Given the description of an element on the screen output the (x, y) to click on. 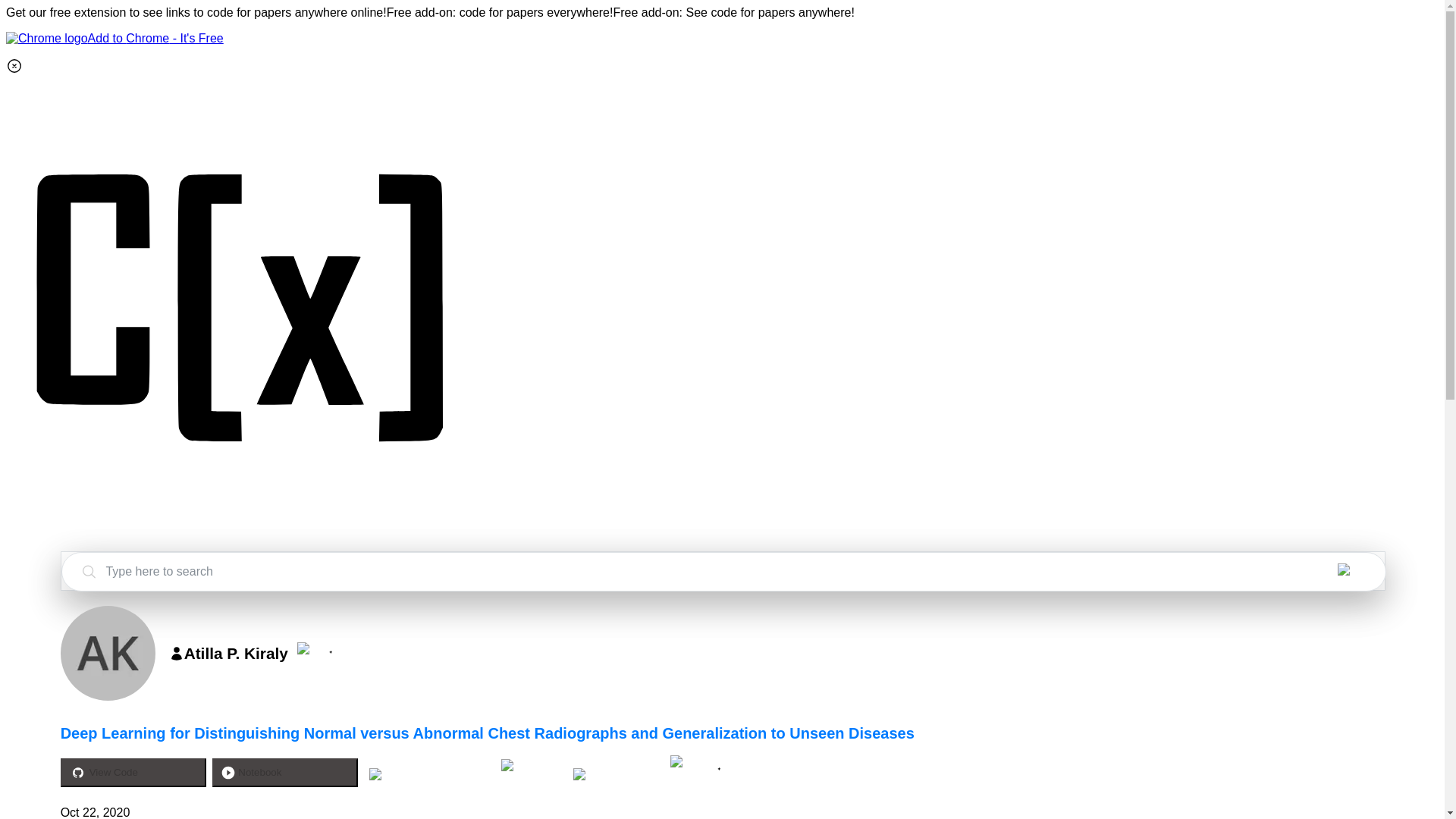
View Code (133, 772)
CatalyzeX Icon (241, 543)
View code for similar papers (428, 774)
Get alerts when new code is available for this paper (701, 761)
Bookmark this paper (616, 772)
Get notified when a new paper is added by the author (329, 648)
Contribute your code for this paper to the community (532, 765)
Notebook (285, 772)
